Given the description of an element on the screen output the (x, y) to click on. 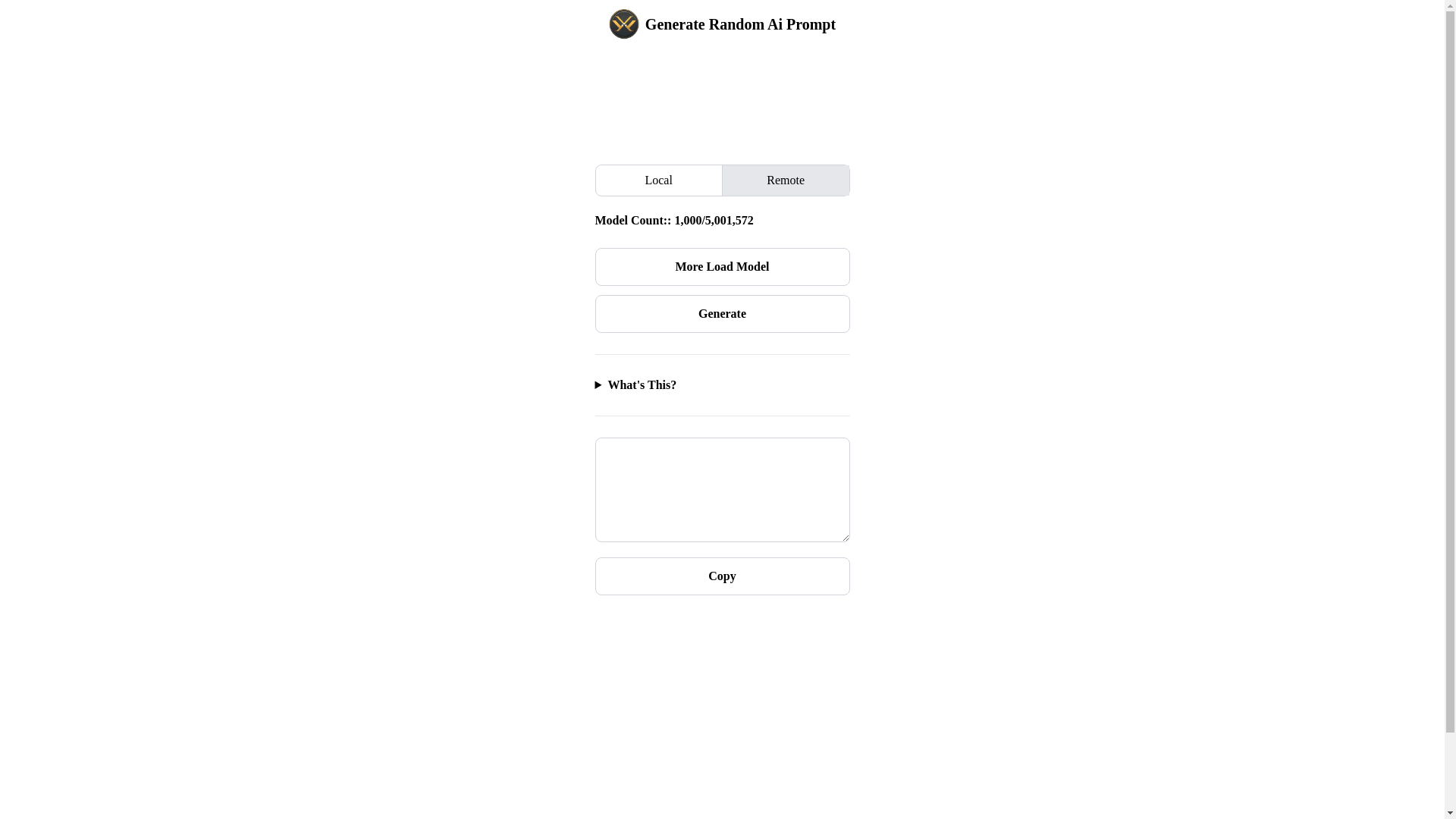
Generate Element type: text (721, 313)
Remote Element type: text (785, 180)
More Load Model Element type: text (721, 266)
Copy Element type: text (721, 576)
Local Element type: text (659, 180)
Advertisement Element type: hover (721, 103)
